Given the description of an element on the screen output the (x, y) to click on. 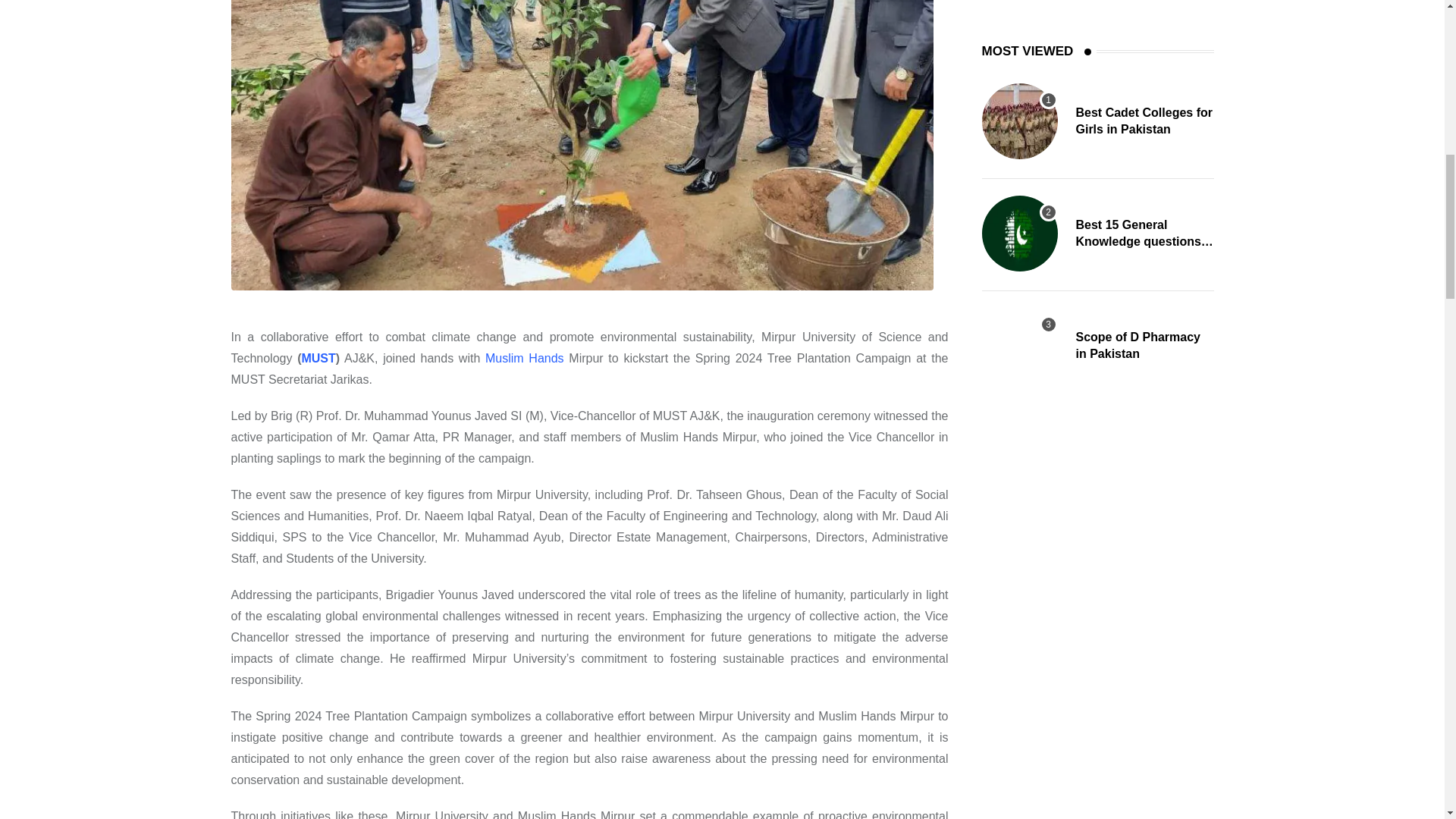
Best Cadet Colleges for Girls in Pakistan (1019, 120)
Best 15 General Knowledge questions about Pakistan (1019, 233)
Scope of D Pharmacy in Pakistan (1019, 345)
